Given the description of an element on the screen output the (x, y) to click on. 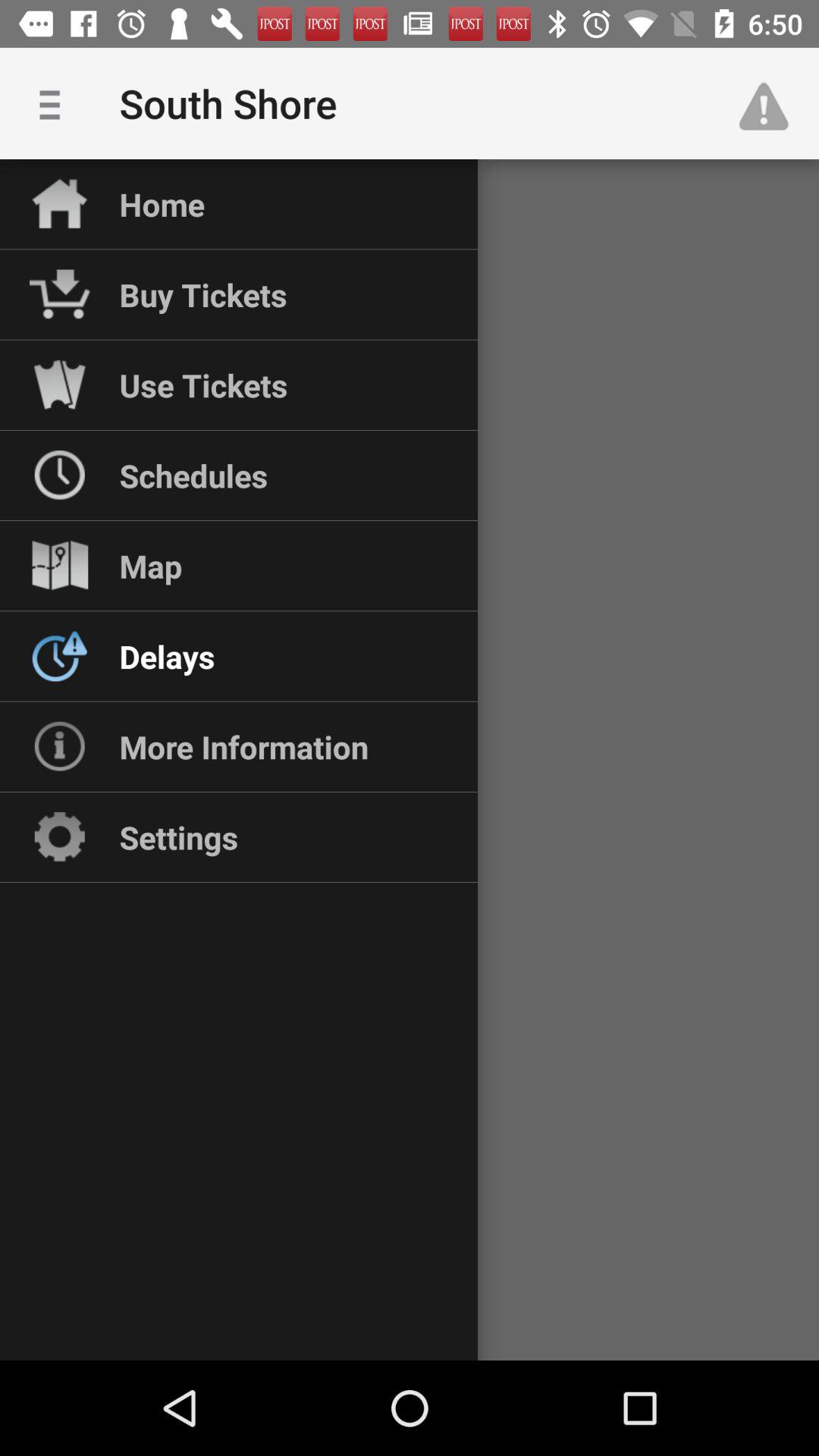
open the app to the right of south shore app (771, 103)
